Given the description of an element on the screen output the (x, y) to click on. 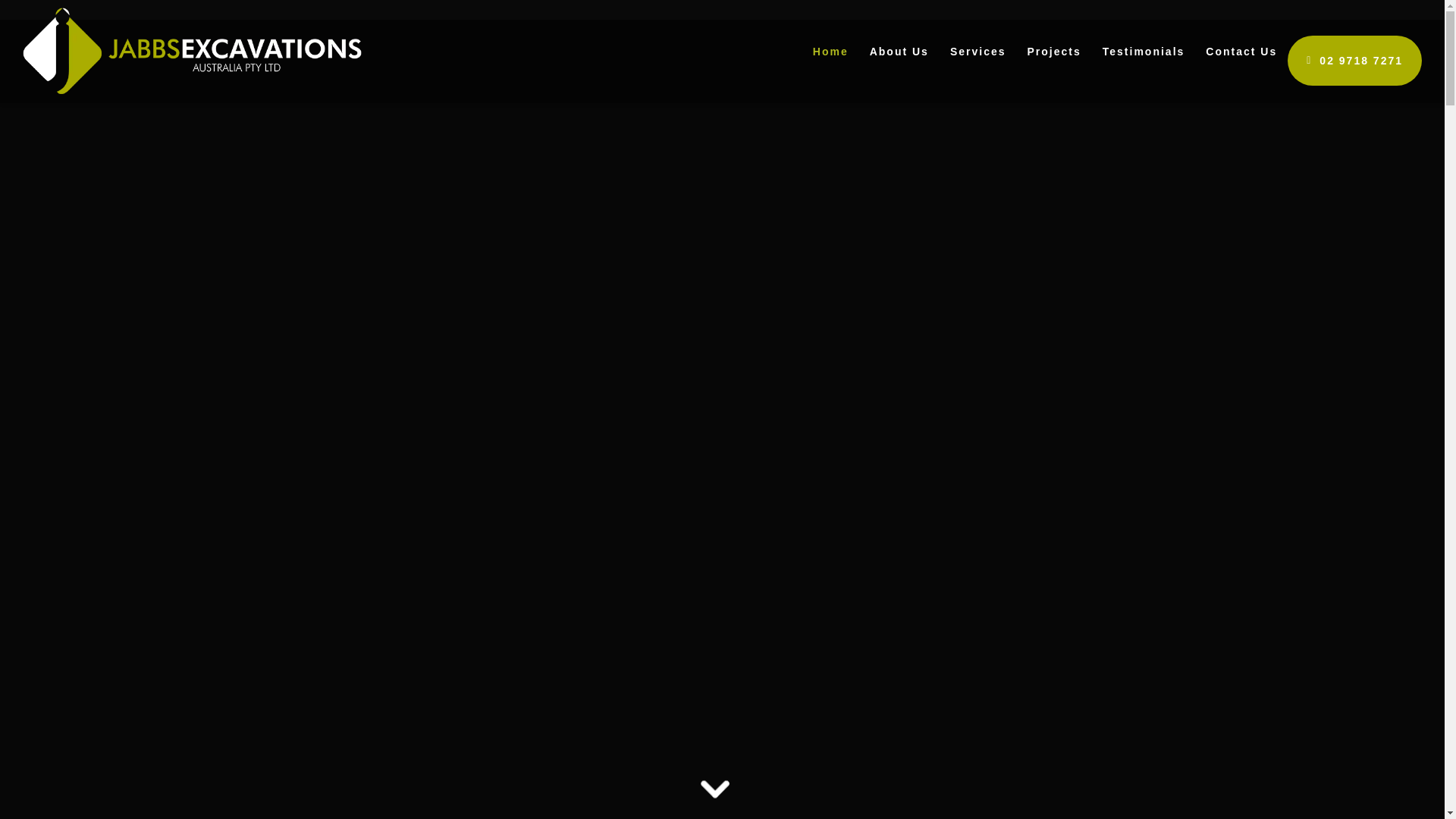
Testimonials Element type: text (1143, 51)
Home Element type: text (830, 51)
Projects Element type: text (1054, 51)
02 9718 7271 Element type: text (1354, 60)
Services Element type: text (977, 51)
Contact Us Element type: text (1241, 51)
About Us Element type: text (899, 51)
